Given the description of an element on the screen output the (x, y) to click on. 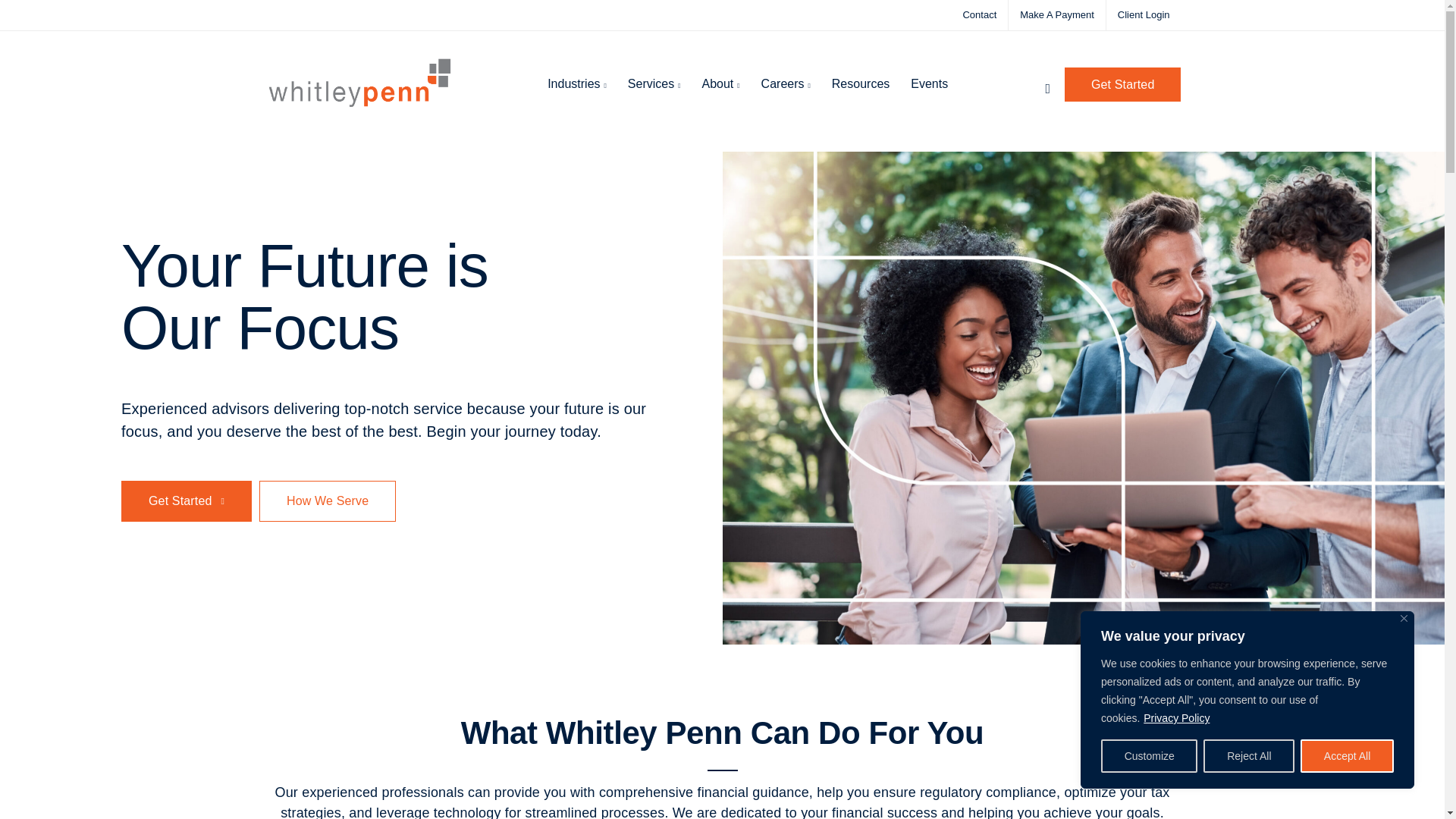
Industries (577, 84)
Contact (978, 14)
Customize (1148, 756)
Make A Payment (1057, 14)
Privacy Policy (1175, 717)
Accept All (1346, 756)
Reject All (1249, 756)
Client Login (1144, 14)
